Given the description of an element on the screen output the (x, y) to click on. 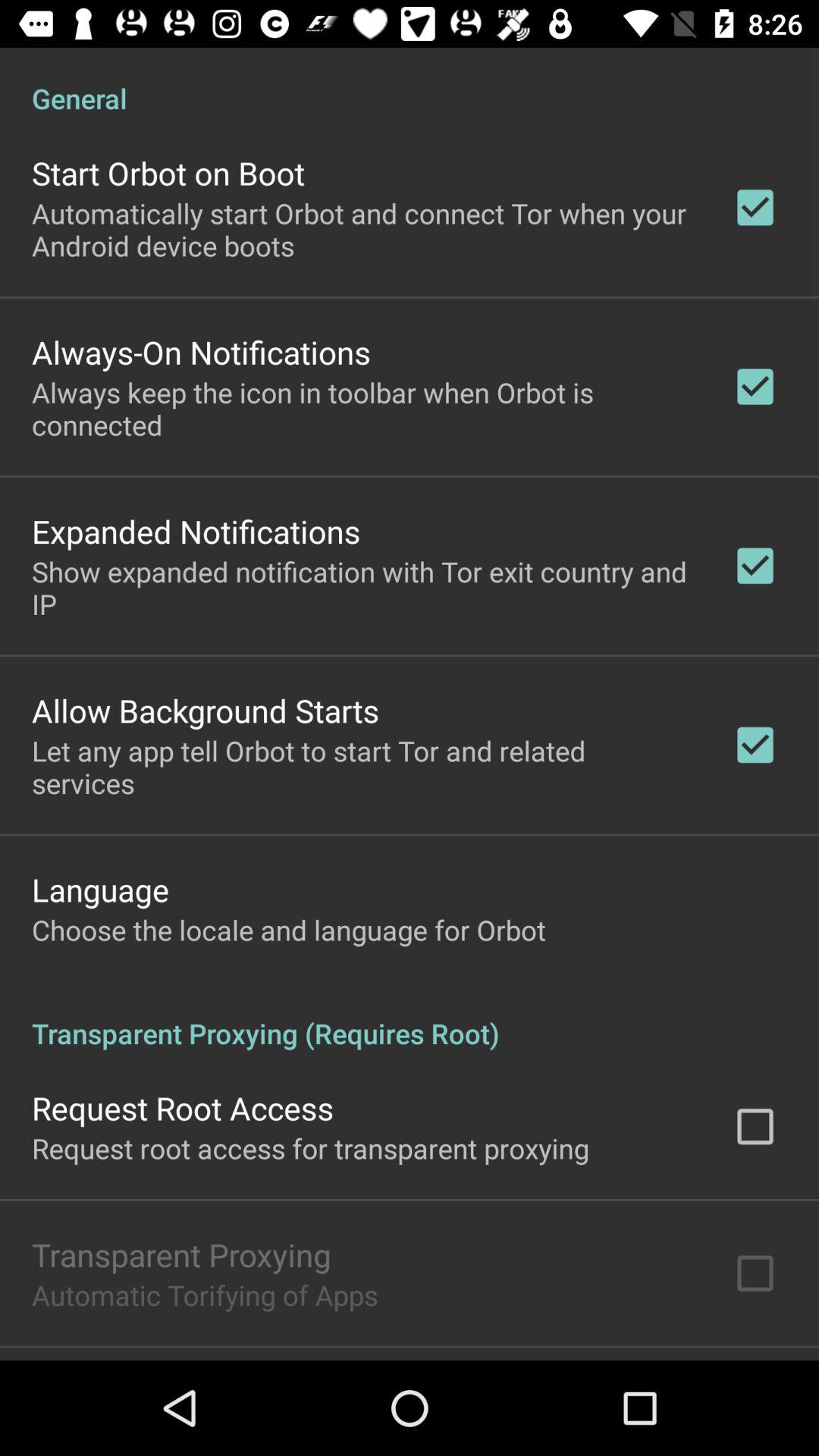
turn off the app below always-on notifications item (361, 408)
